Given the description of an element on the screen output the (x, y) to click on. 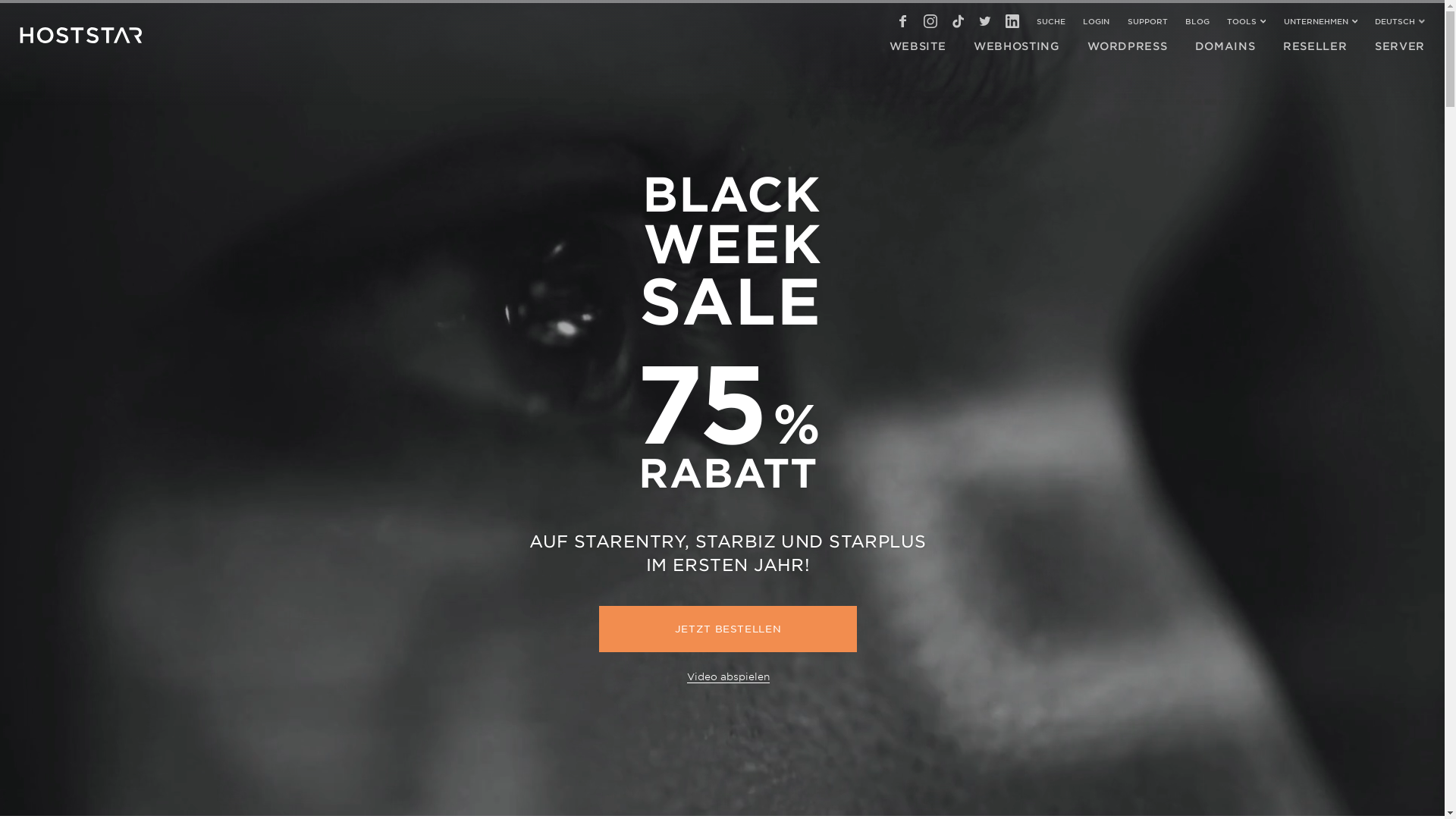
hs-icon-twitter Element type: text (984, 21)
Video abspielen Element type: text (727, 676)
BLOG Element type: text (1197, 21)
JETZT BESTELLEN Element type: text (727, 628)
hs-icon-instagram Element type: text (930, 21)
SUCHE Element type: text (1050, 21)
hs-icon-facebook Element type: text (903, 21)
SUPPORT Element type: text (1147, 21)
LOGIN Element type: text (1095, 21)
